Given the description of an element on the screen output the (x, y) to click on. 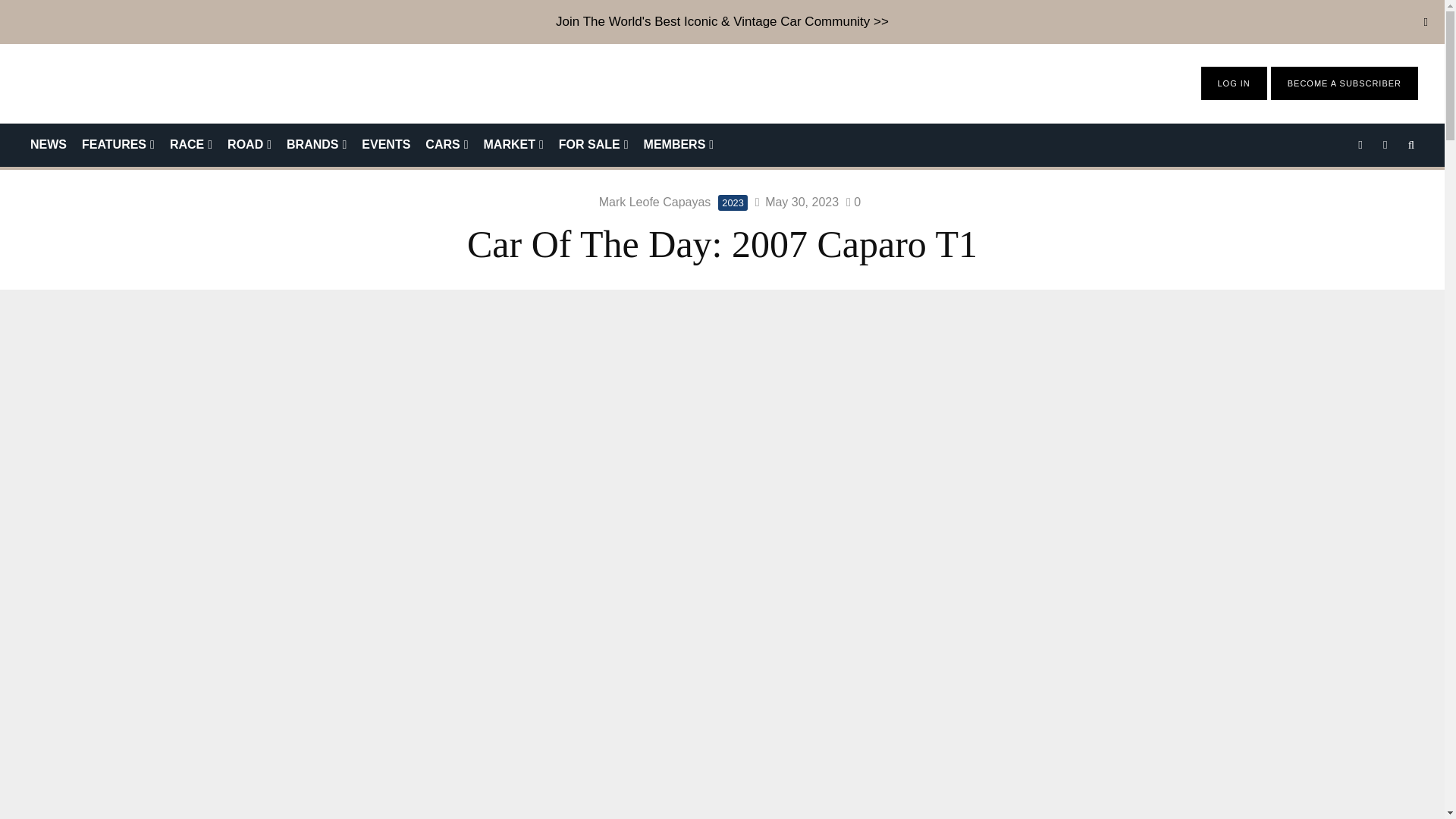
FEATURES (117, 145)
NEWS (48, 145)
BECOME A SUBSCRIBER (1343, 82)
LOG IN (1233, 82)
RACE (190, 145)
